Given the description of an element on the screen output the (x, y) to click on. 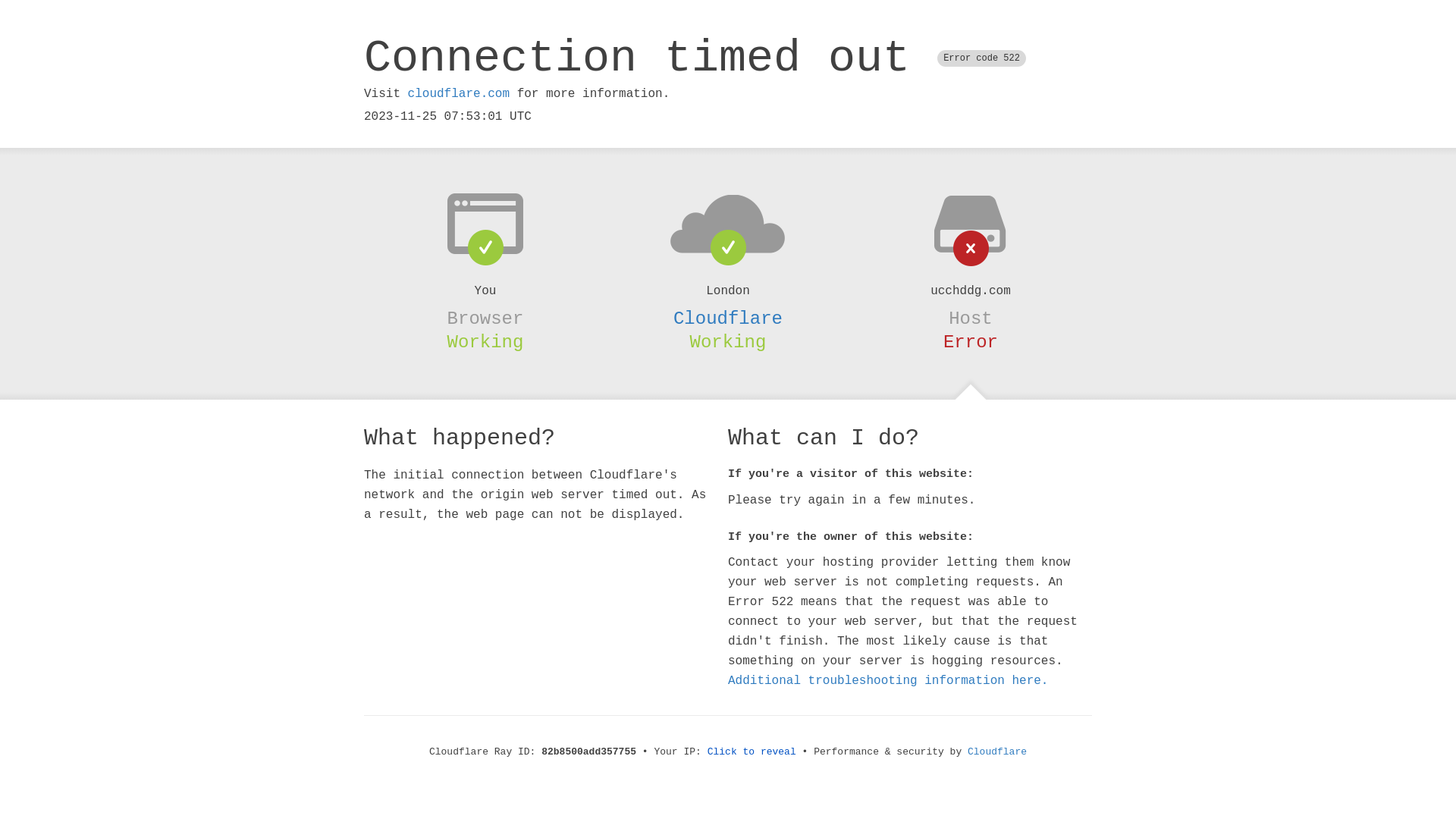
Additional troubleshooting information here. Element type: text (888, 680)
Click to reveal Element type: text (751, 751)
Cloudflare Element type: text (996, 751)
cloudflare.com Element type: text (458, 93)
Cloudflare Element type: text (727, 318)
